Given the description of an element on the screen output the (x, y) to click on. 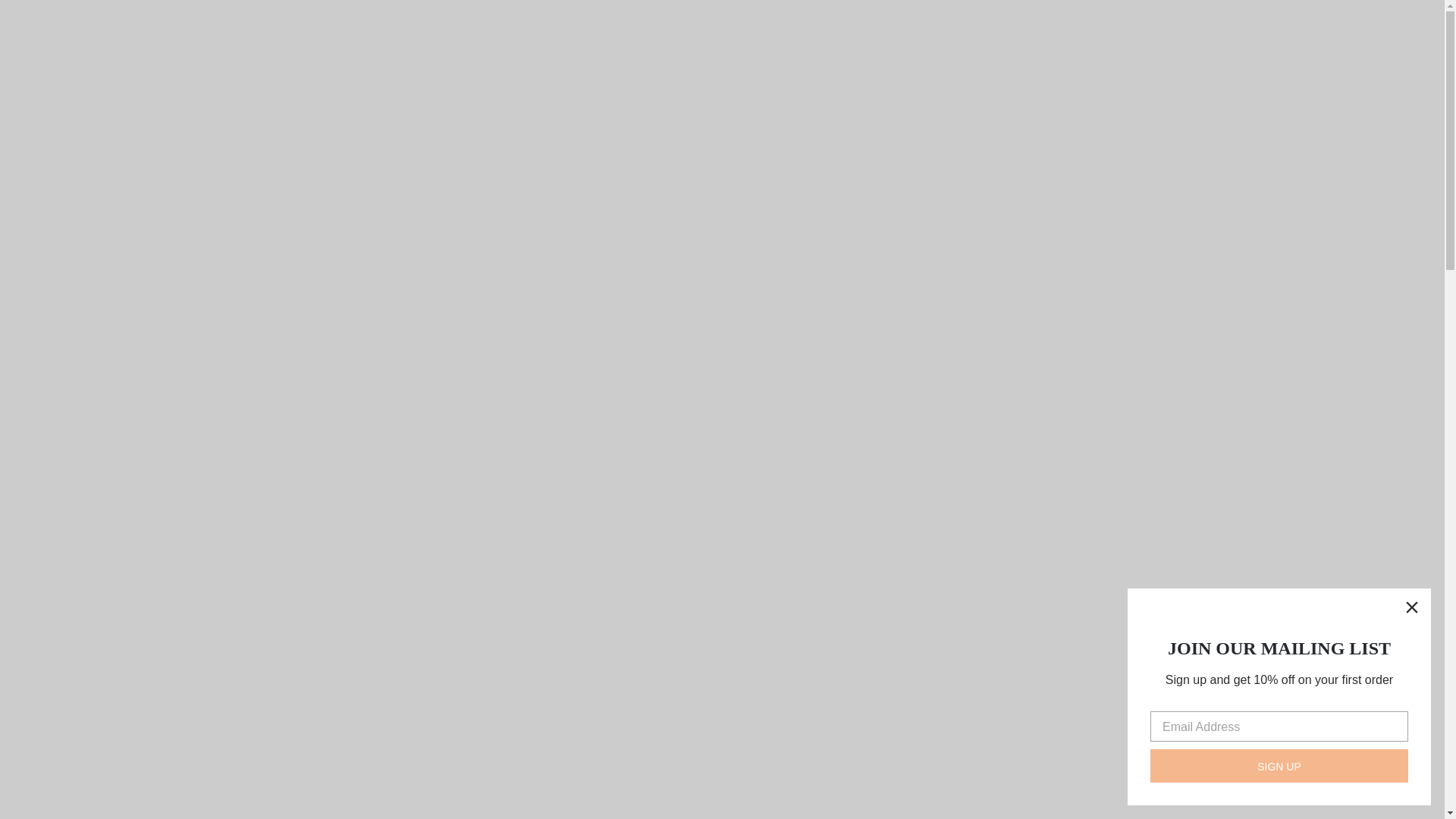
Sign up (1278, 765)
